Given the description of an element on the screen output the (x, y) to click on. 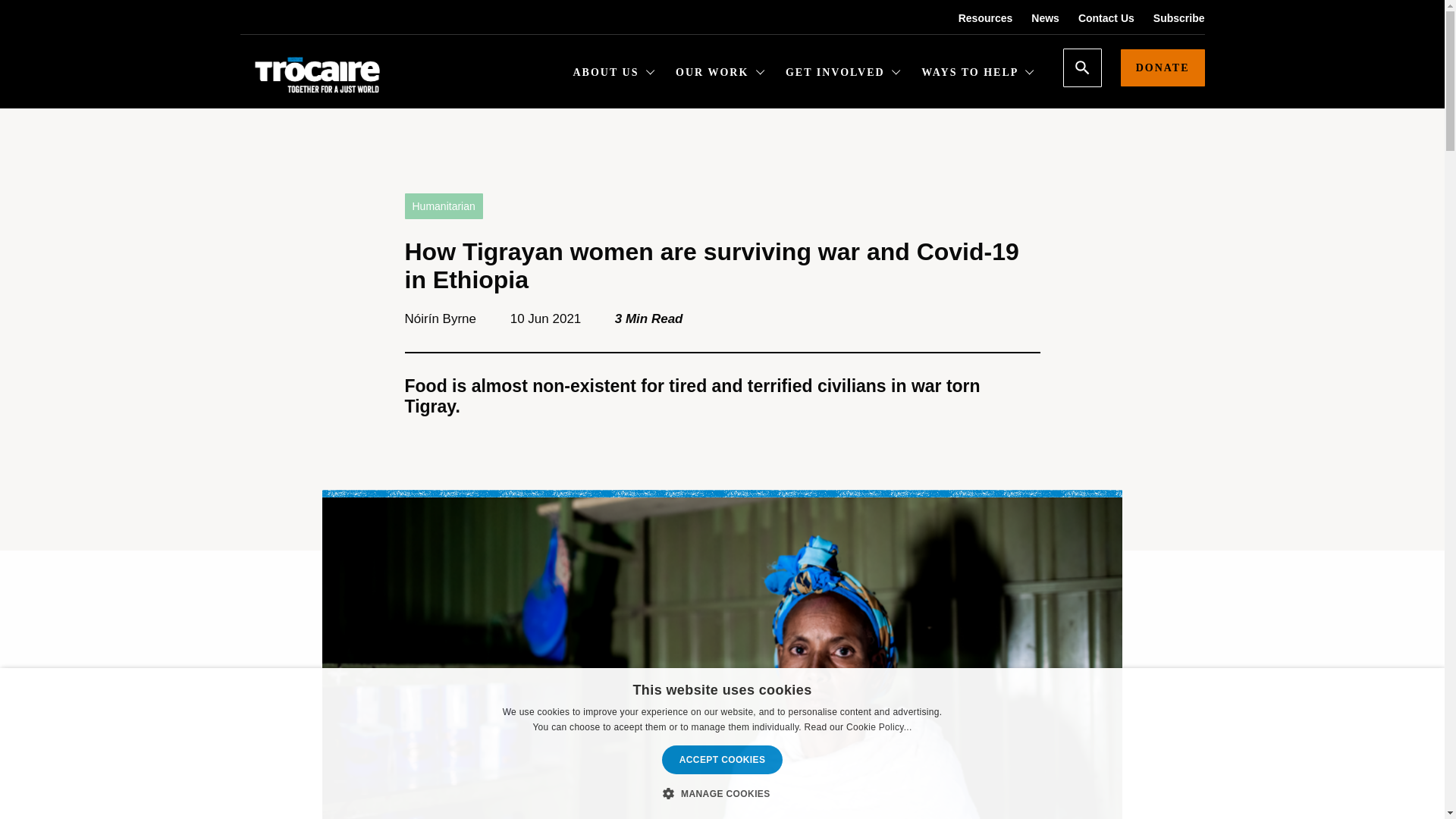
WAYS TO HELP (977, 74)
GET INVOLVED (843, 74)
ABOUT US (614, 74)
Contact Us (1096, 17)
OUR WORK (720, 74)
News (1035, 17)
Resources (976, 17)
DONATE (1163, 67)
Subscribe (1169, 17)
